Given the description of an element on the screen output the (x, y) to click on. 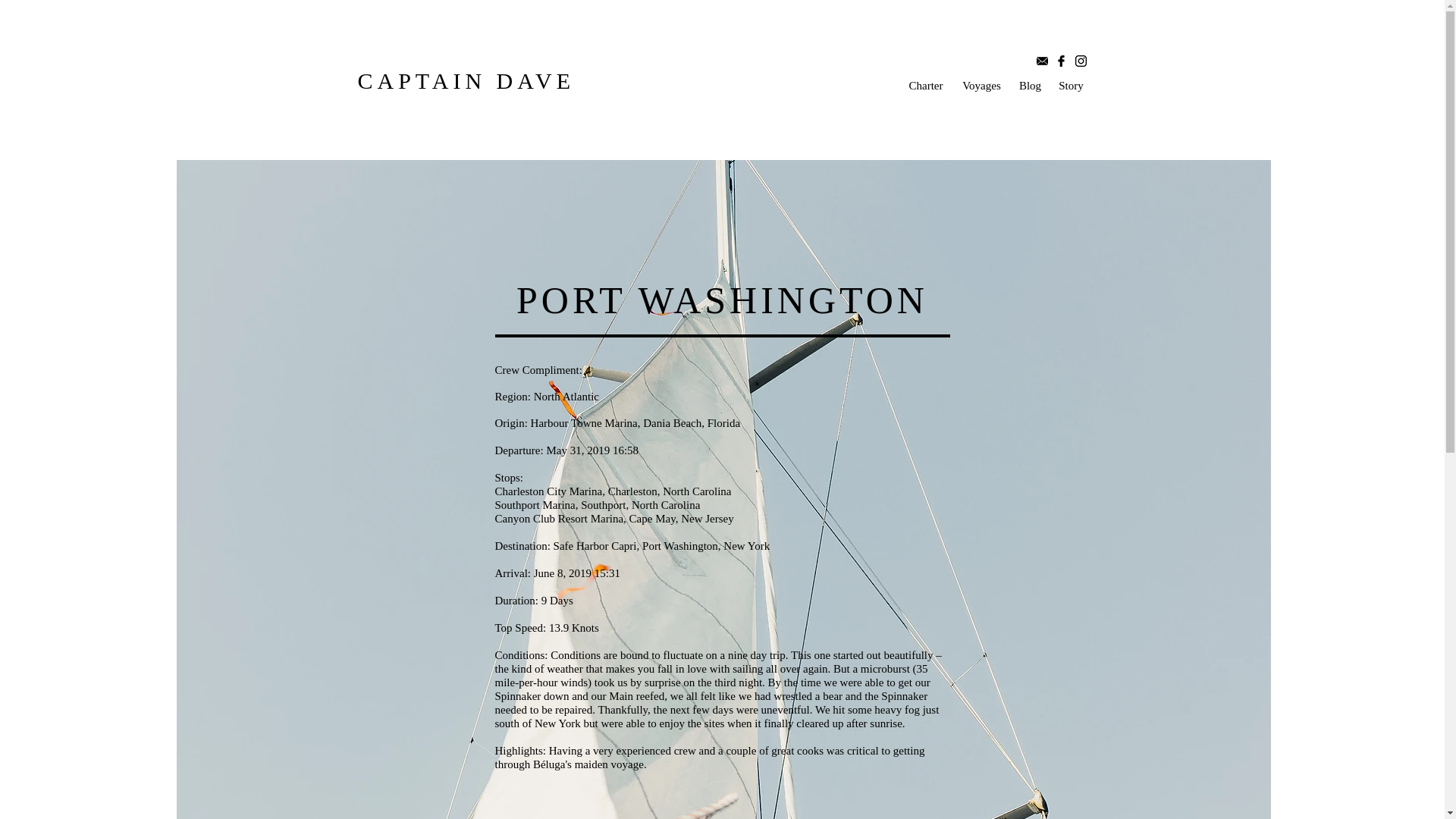
Charter (925, 84)
Blog (1030, 84)
Story (1070, 84)
CAPTAIN DAVE (466, 80)
Voyages (981, 84)
